Given the description of an element on the screen output the (x, y) to click on. 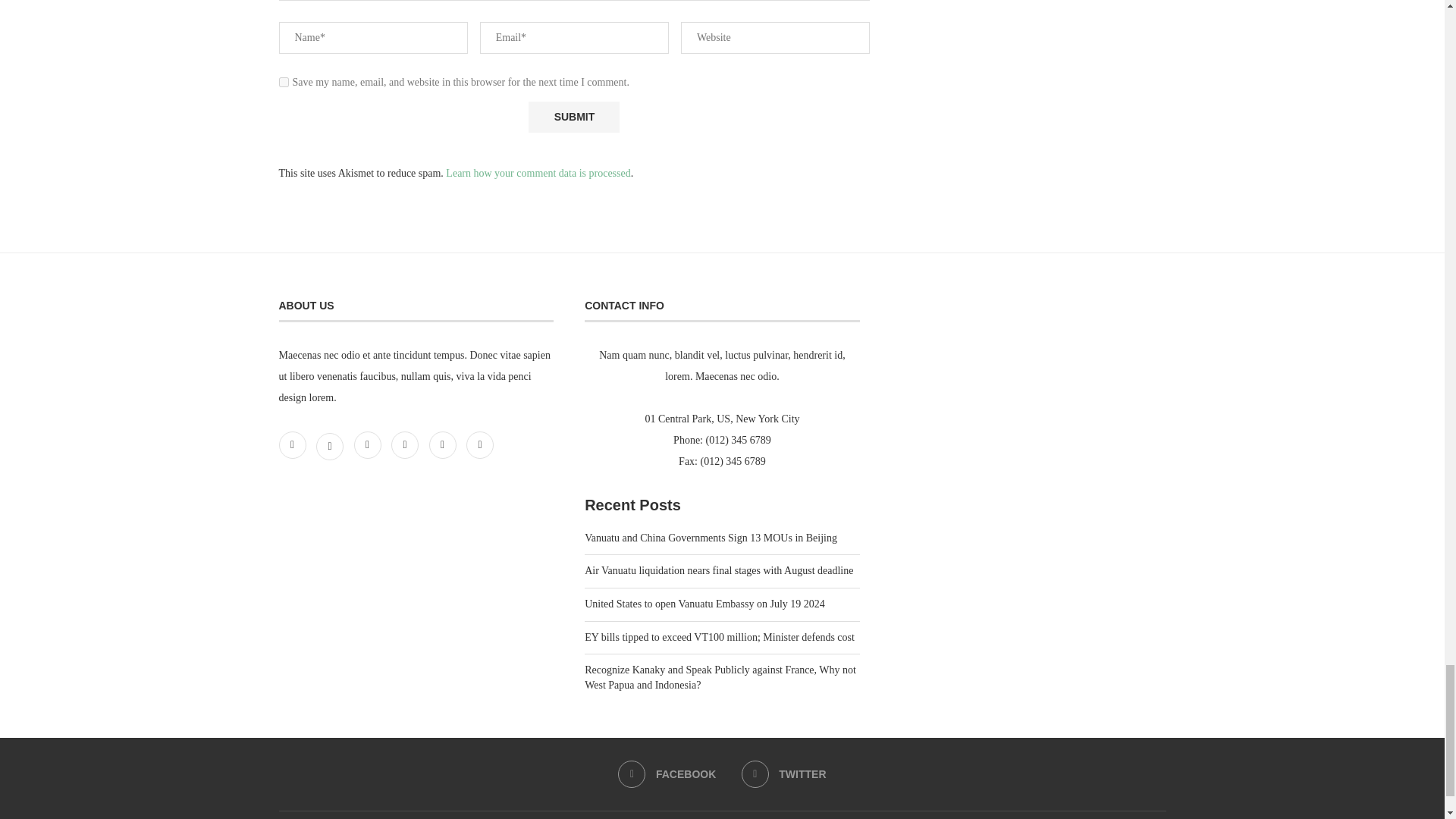
yes (283, 81)
Submit (574, 116)
